Given the description of an element on the screen output the (x, y) to click on. 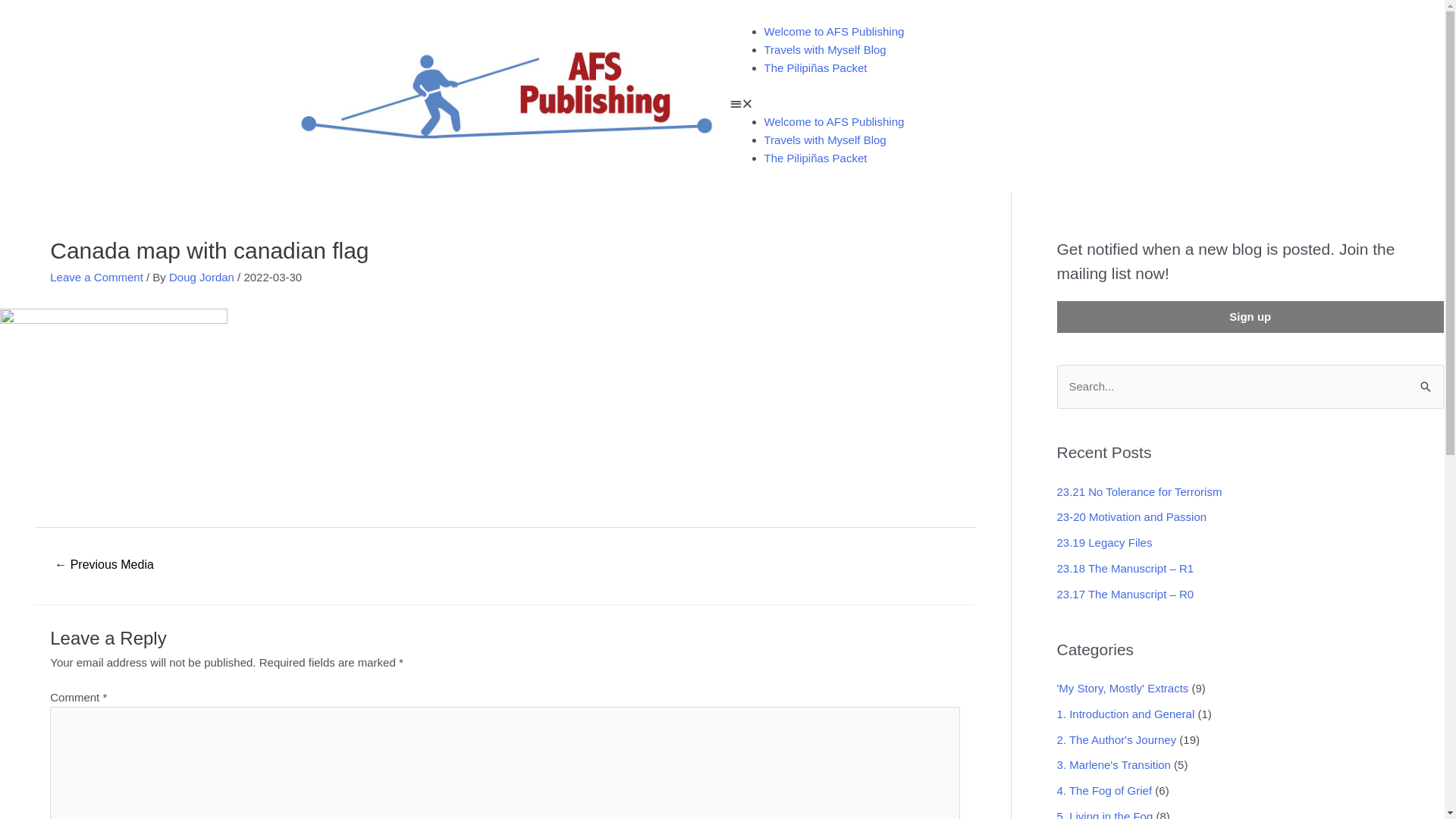
'My Story, Mostly' Extracts Element type: text (1123, 687)
Travels with Myself Blog Element type: text (825, 49)
Doug Jordan Element type: text (203, 276)
3. Marlene's Transition Element type: text (1113, 764)
AFSP_Logo_for_letterhead Element type: hover (505, 95)
4. The Fog of Grief Element type: text (1104, 790)
Leave a Comment Element type: text (96, 276)
1. Introduction and General Element type: text (1126, 713)
Welcome to AFS Publishing Element type: text (834, 31)
23.21 No Tolerance for Terrorism Element type: text (1139, 491)
Sign up Element type: text (1250, 316)
23-20 Motivation and Passion Element type: text (1132, 516)
Travels with Myself Blog Element type: text (825, 139)
Search Element type: text (1426, 384)
2. The Author's Journey Element type: text (1116, 738)
Welcome to AFS Publishing Element type: text (834, 121)
23.19 Legacy Files Element type: text (1104, 542)
